Given the description of an element on the screen output the (x, y) to click on. 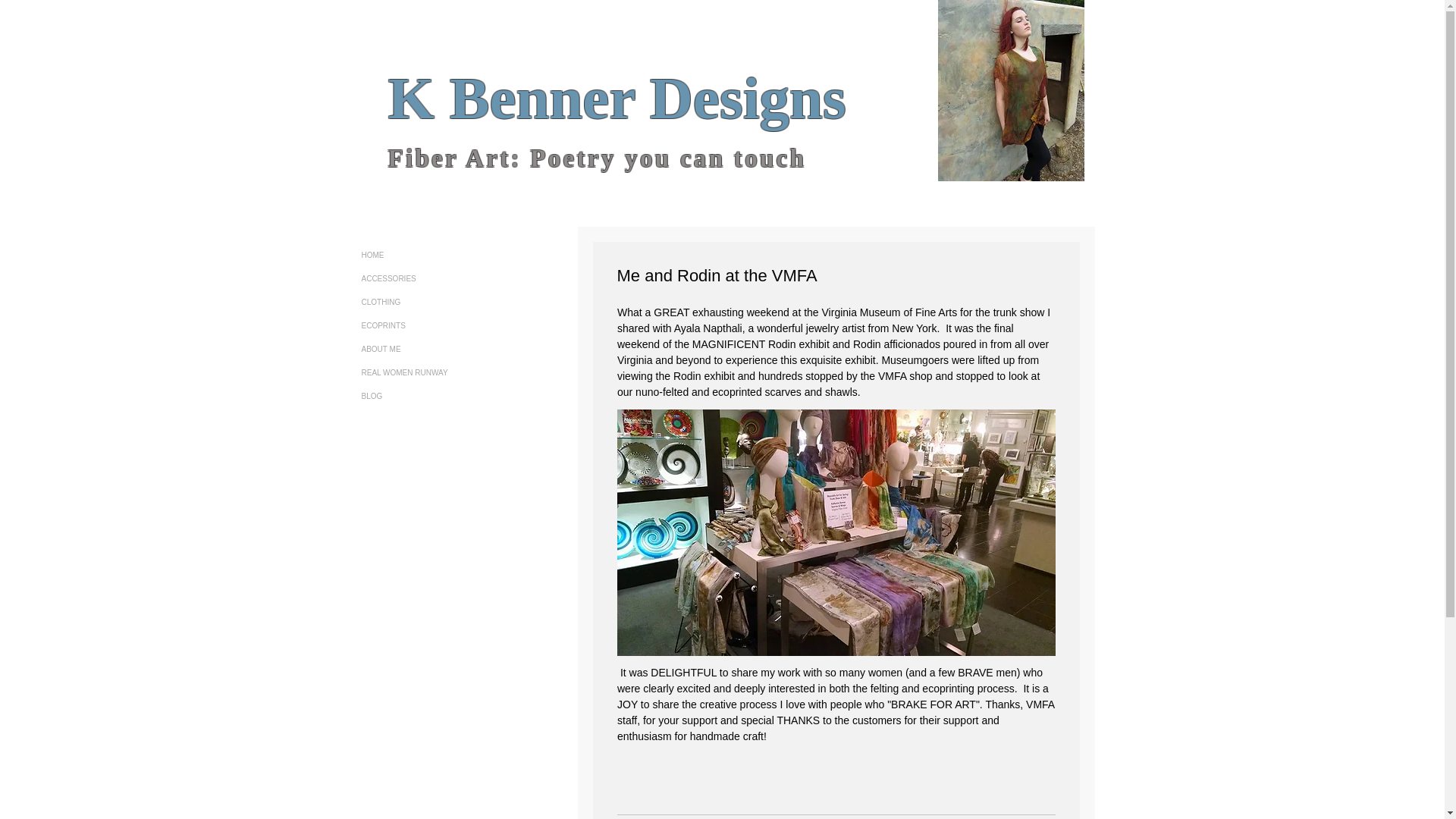
CLOTHING (426, 301)
BLOG (426, 395)
K Benner Designs (616, 98)
ACCESSORIES (426, 278)
ABOUT ME (426, 349)
ECOPRINTS (426, 325)
REAL WOMEN RUNWAY (426, 372)
HOME (426, 254)
